Given the description of an element on the screen output the (x, y) to click on. 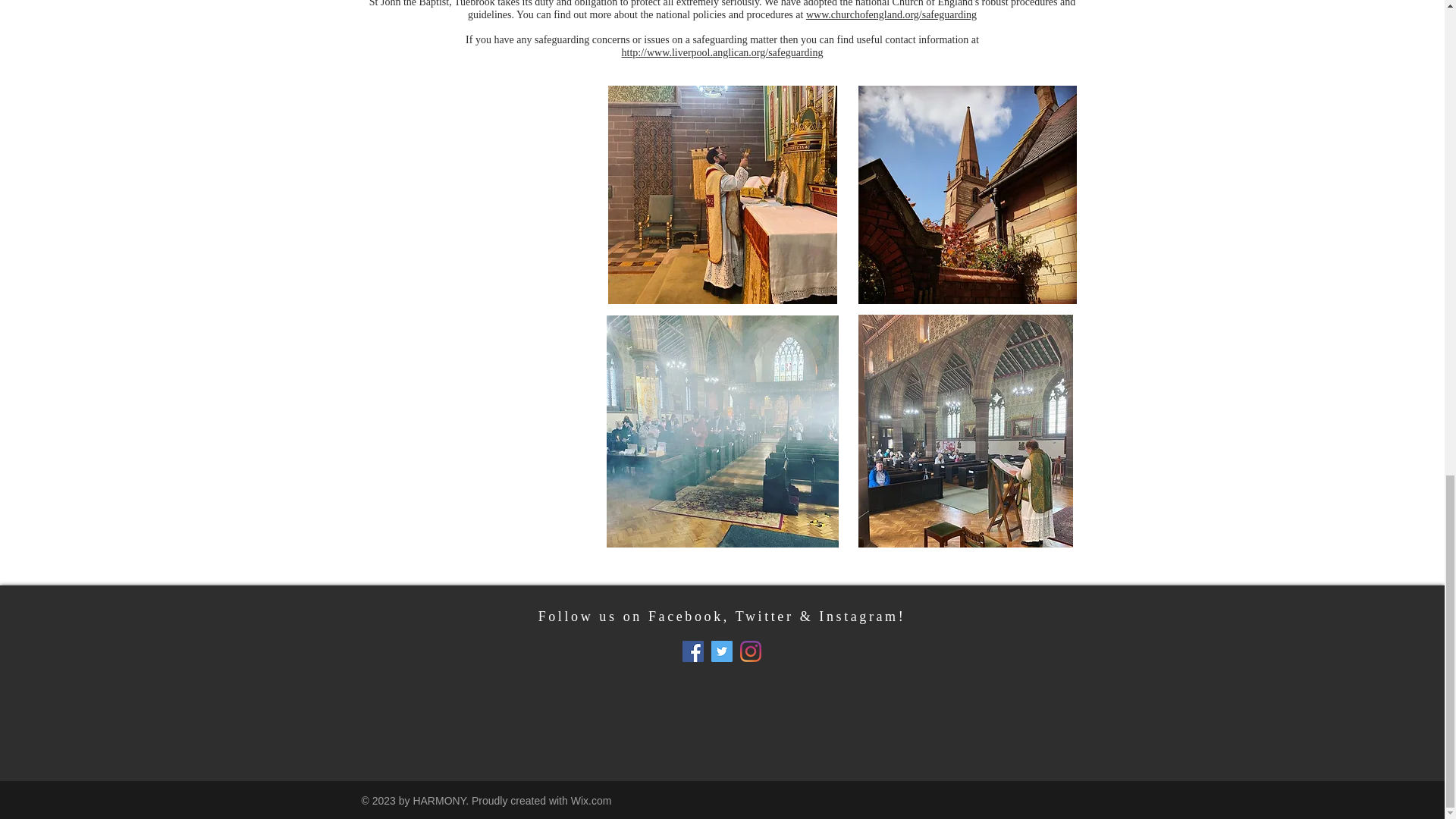
Wix.com (590, 800)
